Given the description of an element on the screen output the (x, y) to click on. 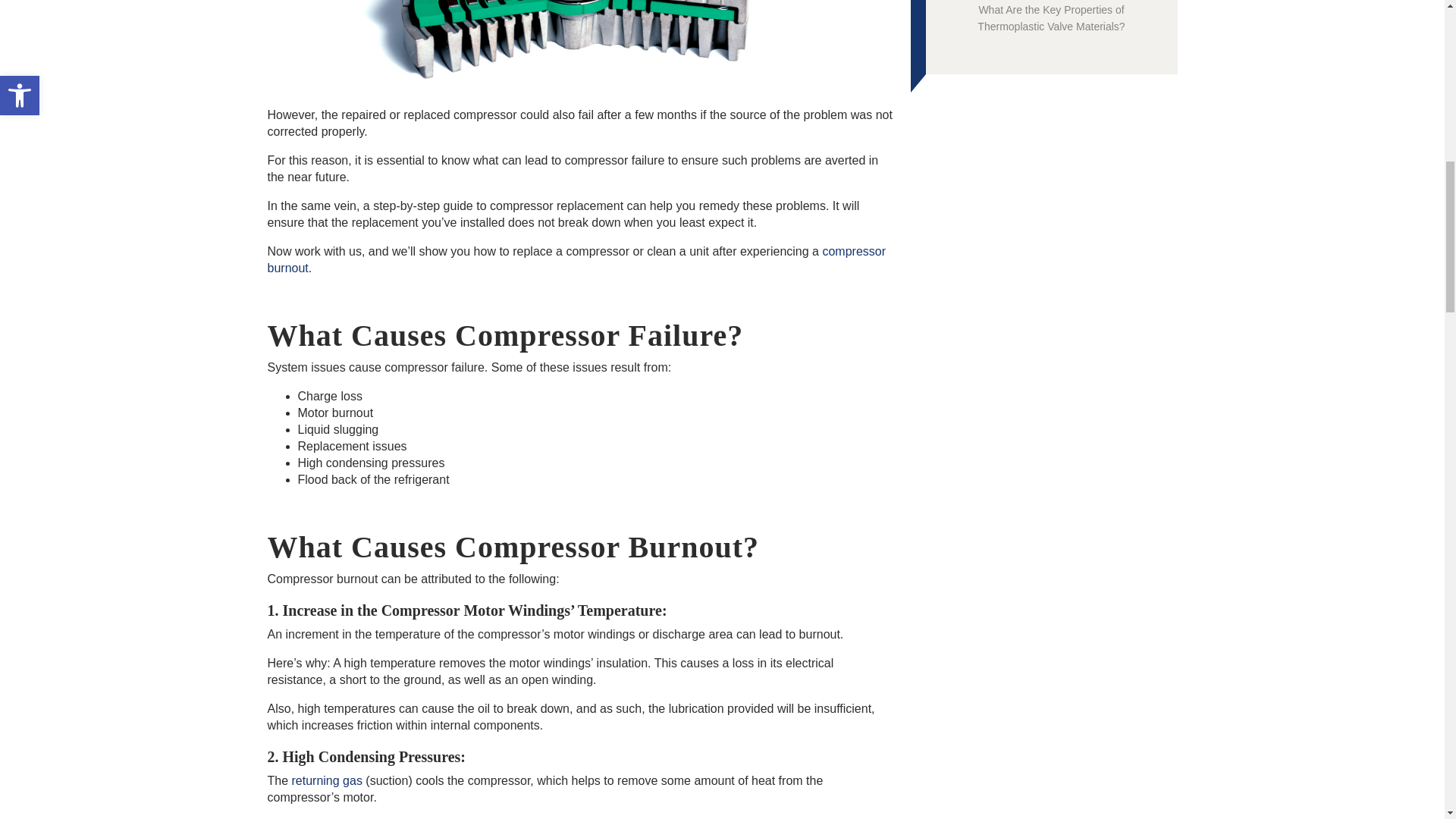
returning gas (327, 780)
compressor burnout (575, 259)
